Given the description of an element on the screen output the (x, y) to click on. 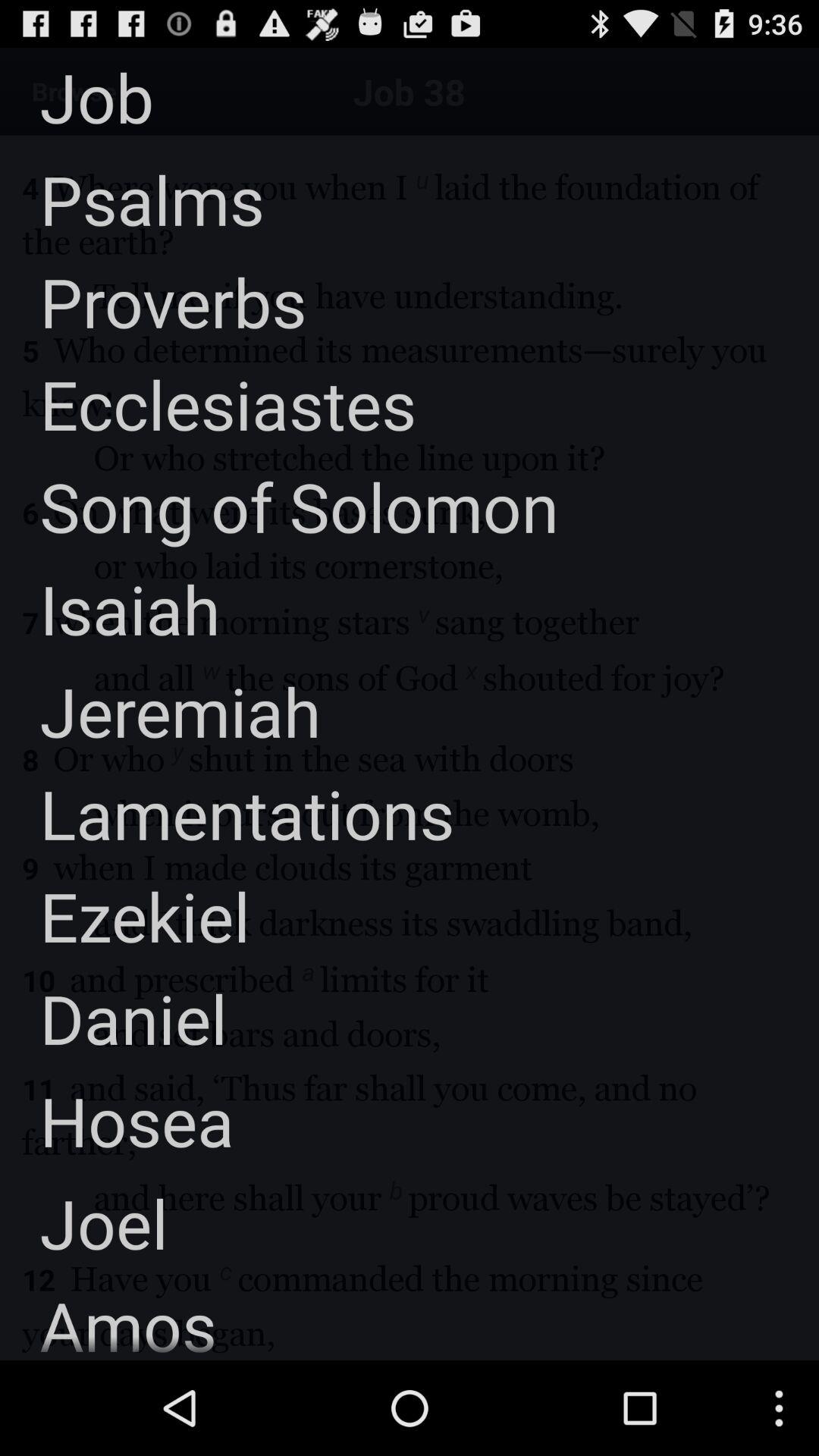
turn on the isaiah icon (110, 608)
